Given the description of an element on the screen output the (x, y) to click on. 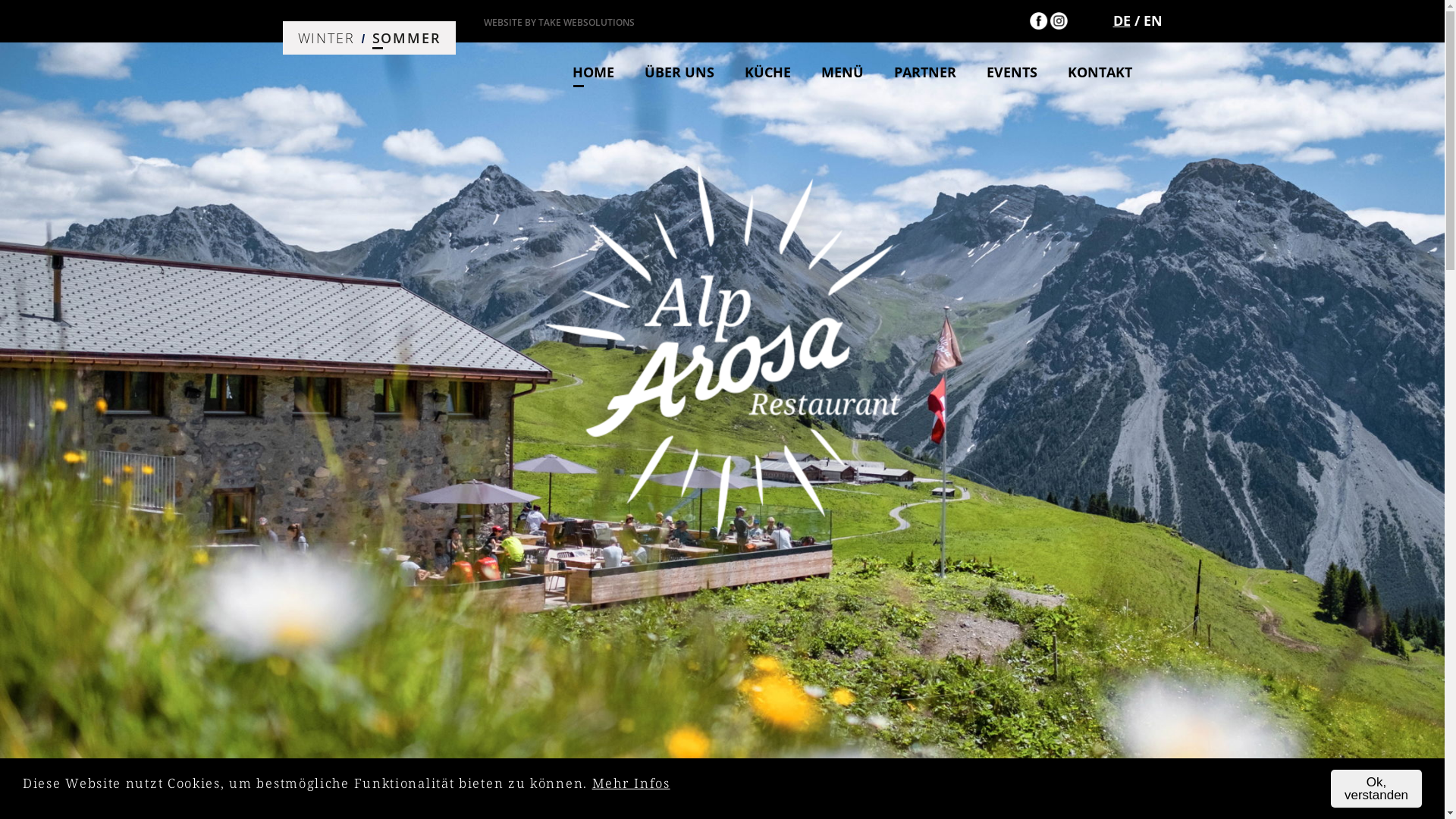
Ok, verstanden Element type: text (1375, 788)
HOME Element type: text (607, 71)
EVENTS Element type: text (1025, 71)
Mehr Infos Element type: text (631, 781)
DE Element type: text (1121, 20)
SOMMER Element type: text (406, 37)
PARTNER Element type: text (939, 71)
AlpArosa Restaurant Element type: hover (722, 350)
EN Element type: text (1152, 20)
KONTAKT Element type: text (1114, 71)
WEBSITE BY TAKE WEBSOLUTIONS Element type: text (558, 21)
WINTER Element type: text (325, 37)
